Given the description of an element on the screen output the (x, y) to click on. 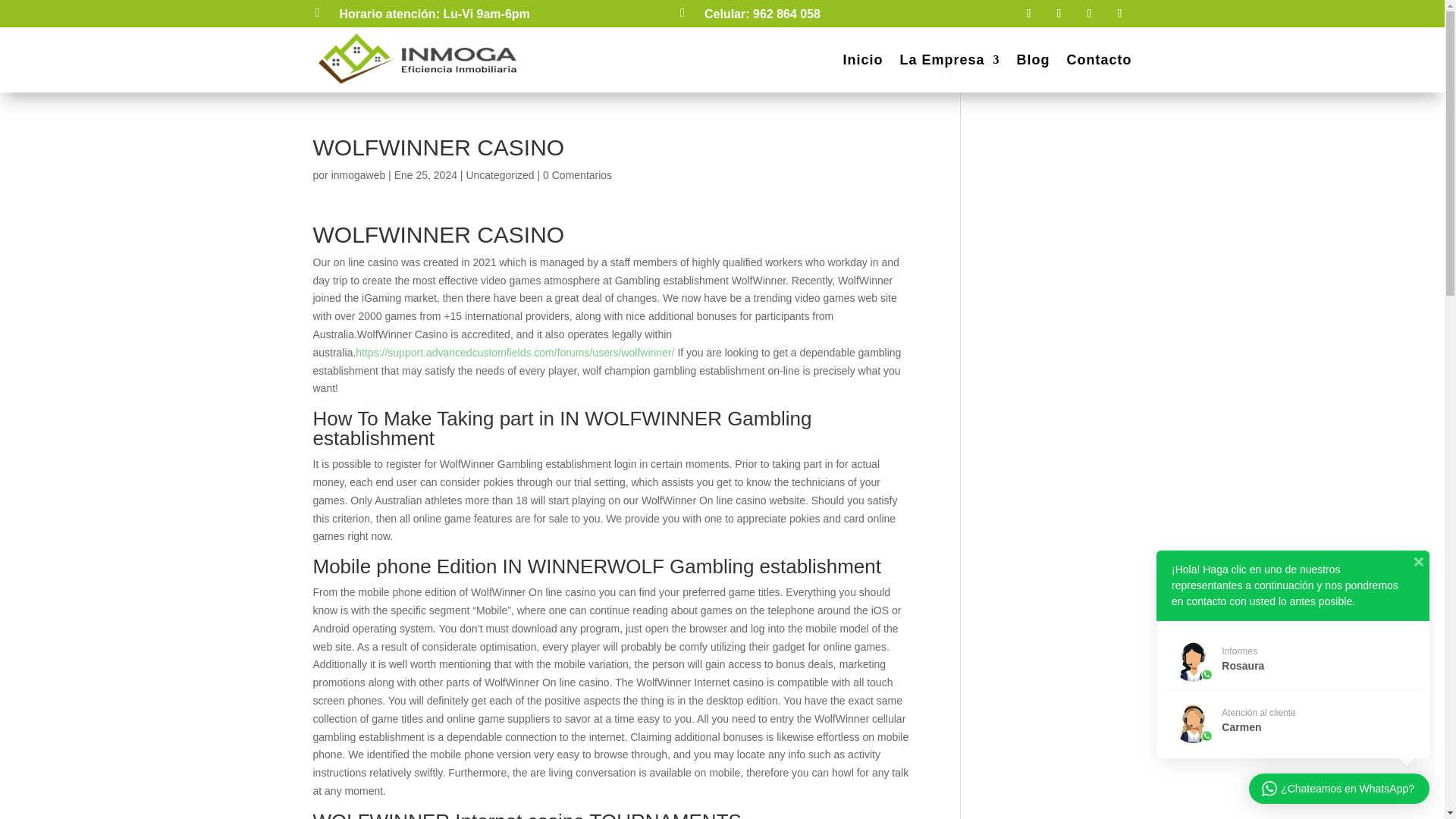
Mensajes de inmogaweb (358, 174)
Seguir en Instagram (1058, 13)
Seguir en Twitter (1088, 13)
Seguir en Facebook (1028, 13)
0 Comentarios (577, 174)
La Empresa (948, 59)
Seguir en Youtube (1118, 13)
Uncategorized (499, 174)
inmogaweb (358, 174)
Contacto (1098, 59)
